Given the description of an element on the screen output the (x, y) to click on. 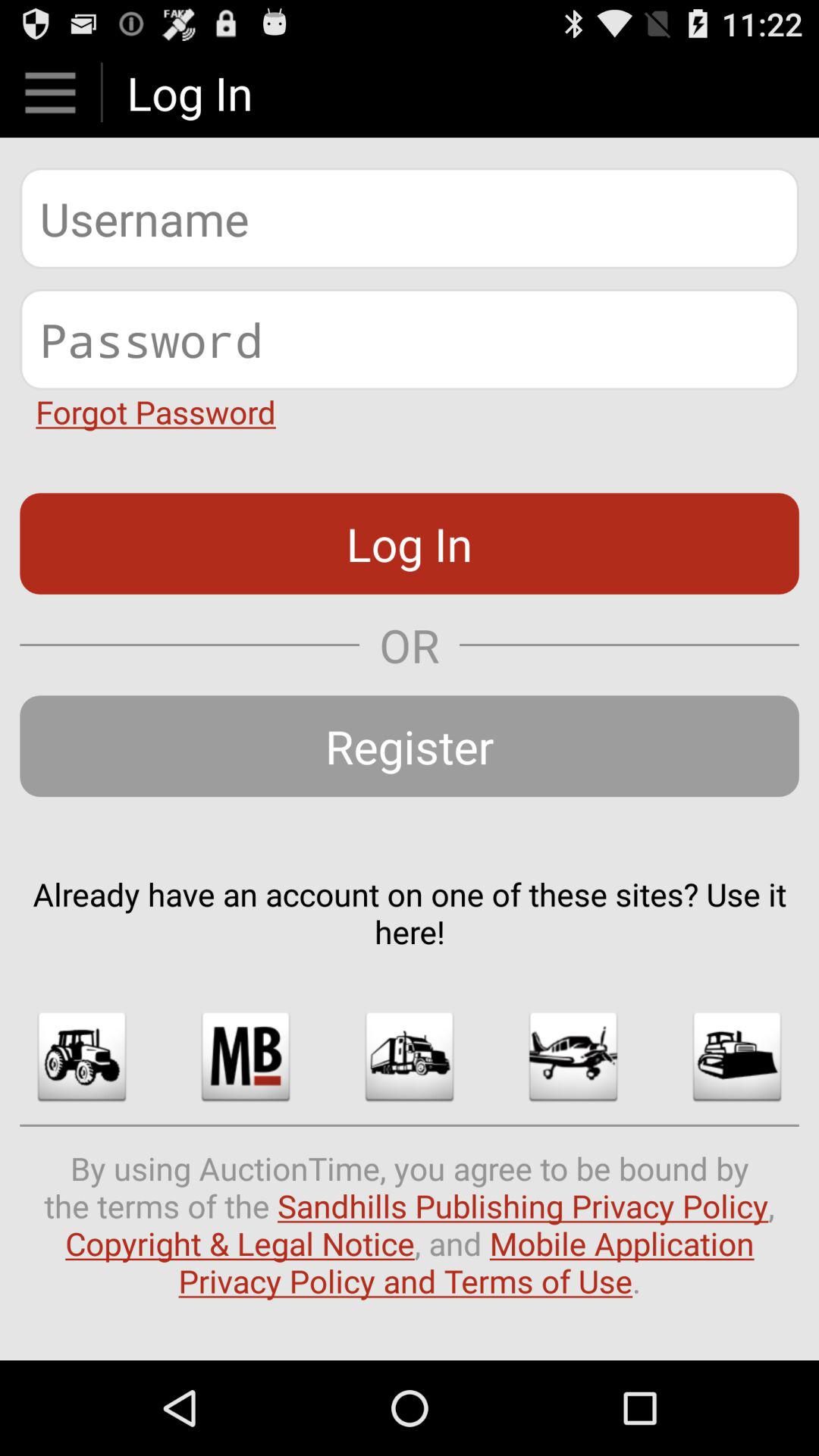
turn off by using auctiontime icon (409, 1224)
